Given the description of an element on the screen output the (x, y) to click on. 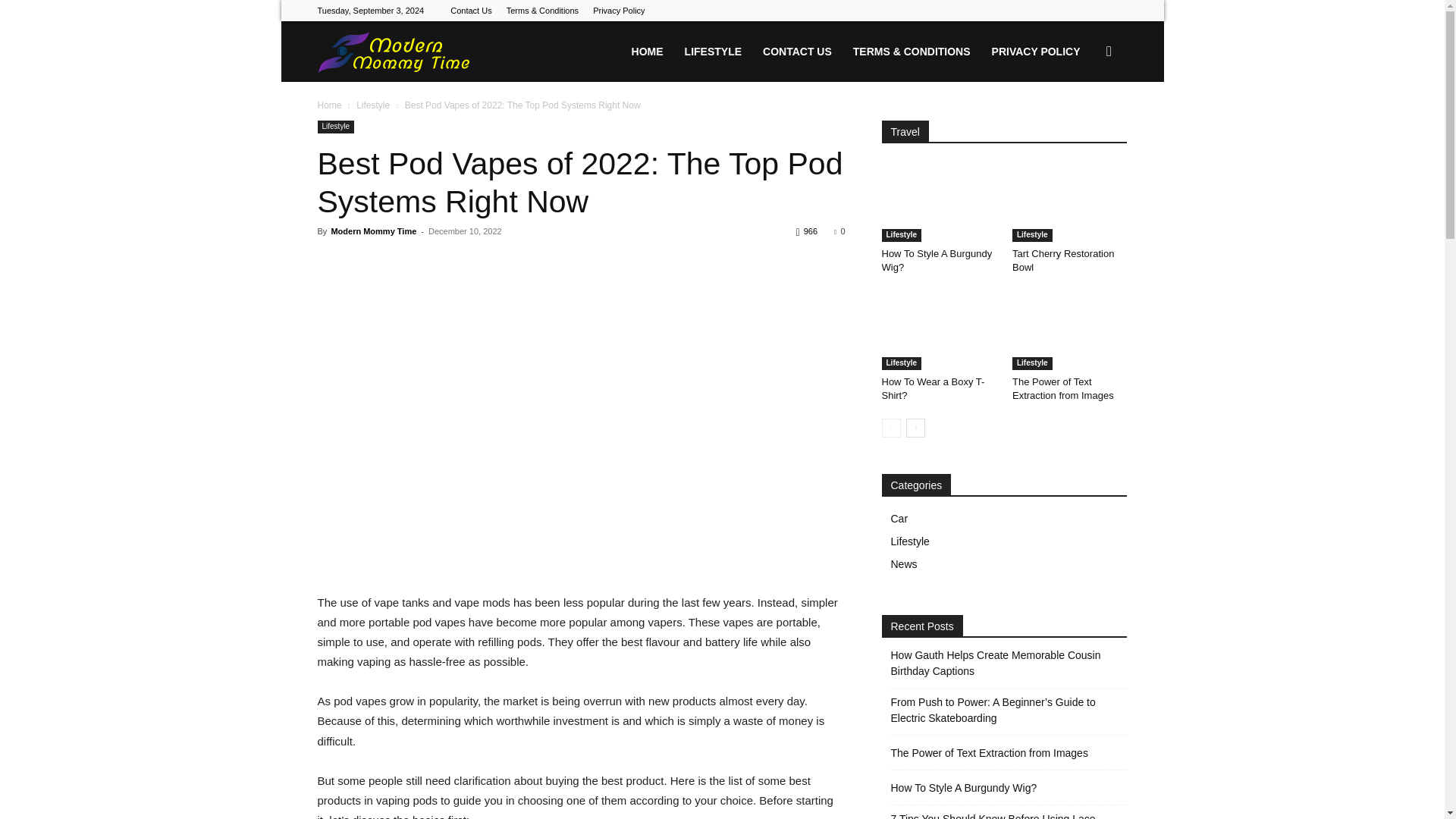
Lifestyle (373, 104)
Modern Mommy Time (373, 230)
Contact Us (470, 10)
Privacy Policy (618, 10)
Modern Mommy Time (392, 51)
PRIVACY POLICY (1035, 51)
LIFESTYLE (713, 51)
Home (328, 104)
0 (839, 230)
View all posts in Lifestyle (373, 104)
